Given the description of an element on the screen output the (x, y) to click on. 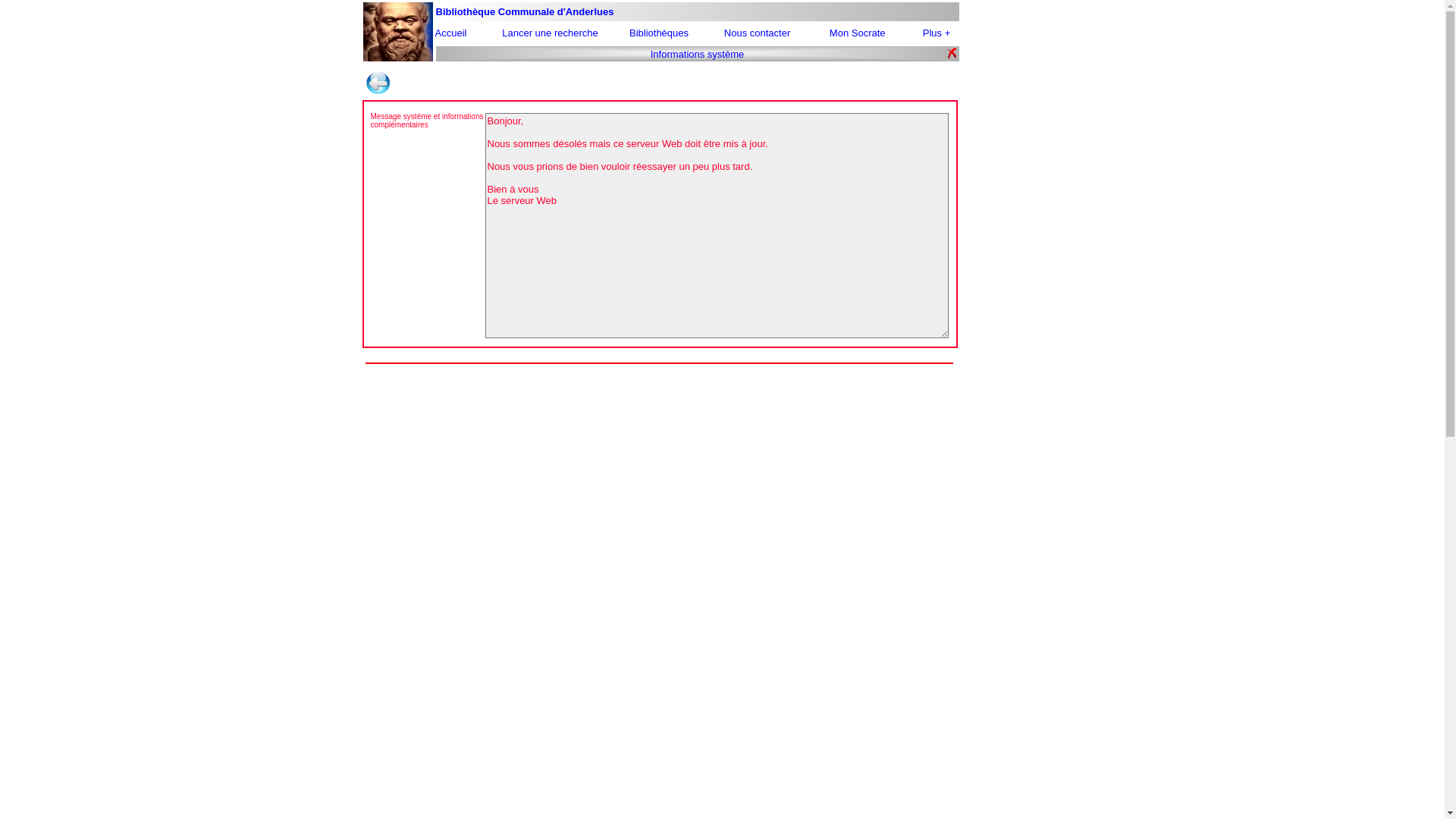
Plus + Element type: text (936, 32)
Lancer une recherche Element type: text (549, 32)
Nous contacter Element type: text (757, 32)
Accueil Element type: text (451, 32)
Mon Socrate  Element type: text (858, 32)
Plus + Element type: text (936, 32)
Lancer une recherche Element type: text (549, 32)
Mon Socrate  Element type: text (858, 32)
Nous contacter Element type: text (756, 32)
